Given the description of an element on the screen output the (x, y) to click on. 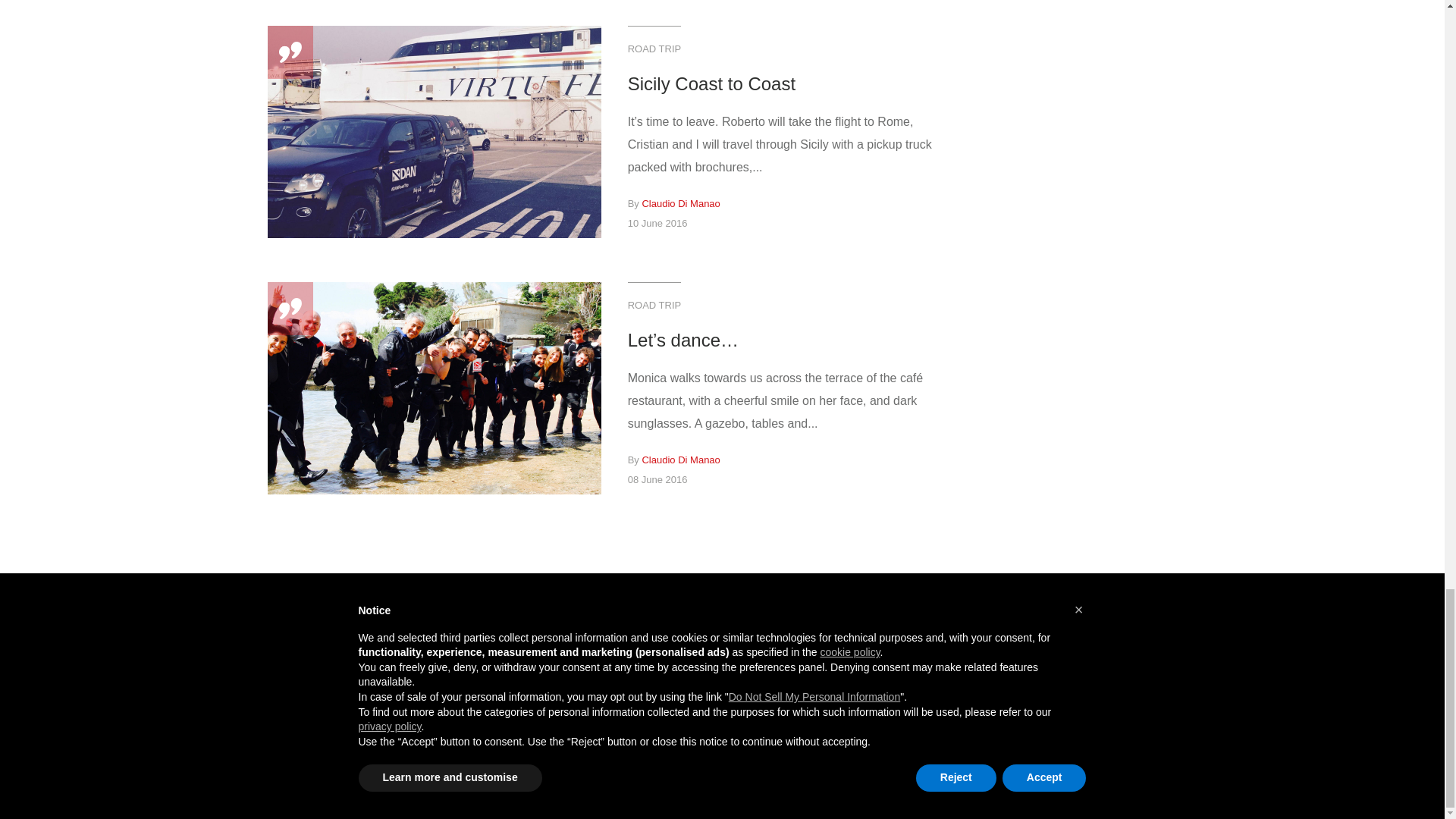
on (972, 656)
